Given the description of an element on the screen output the (x, y) to click on. 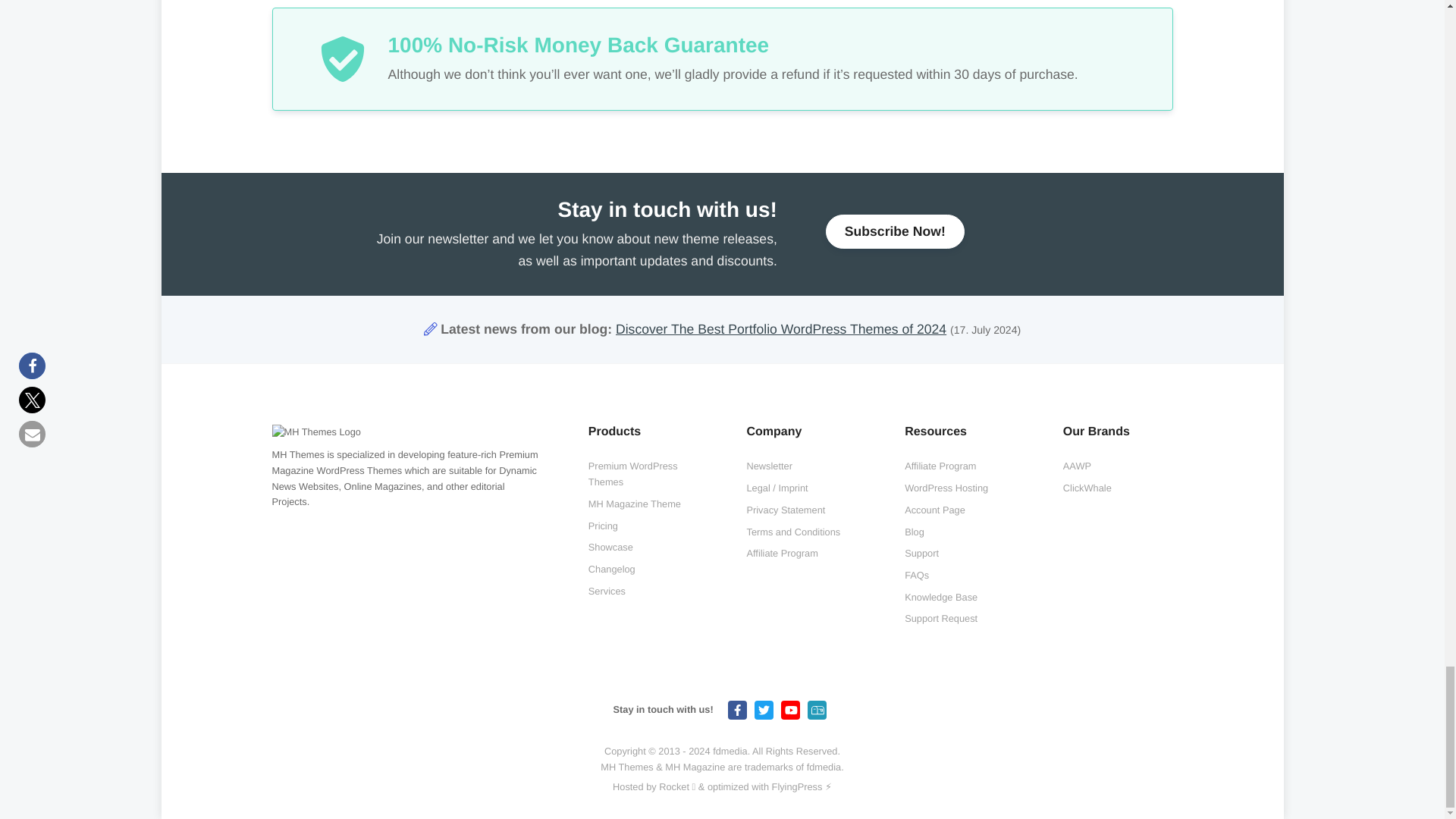
MH Magazine Theme (634, 504)
Subscribe Now! (894, 231)
Discover The Best Portfolio WordPress Themes of 2024 (780, 328)
Premium WordPress Themes (643, 473)
Subscribe Now! (894, 231)
